Given the description of an element on the screen output the (x, y) to click on. 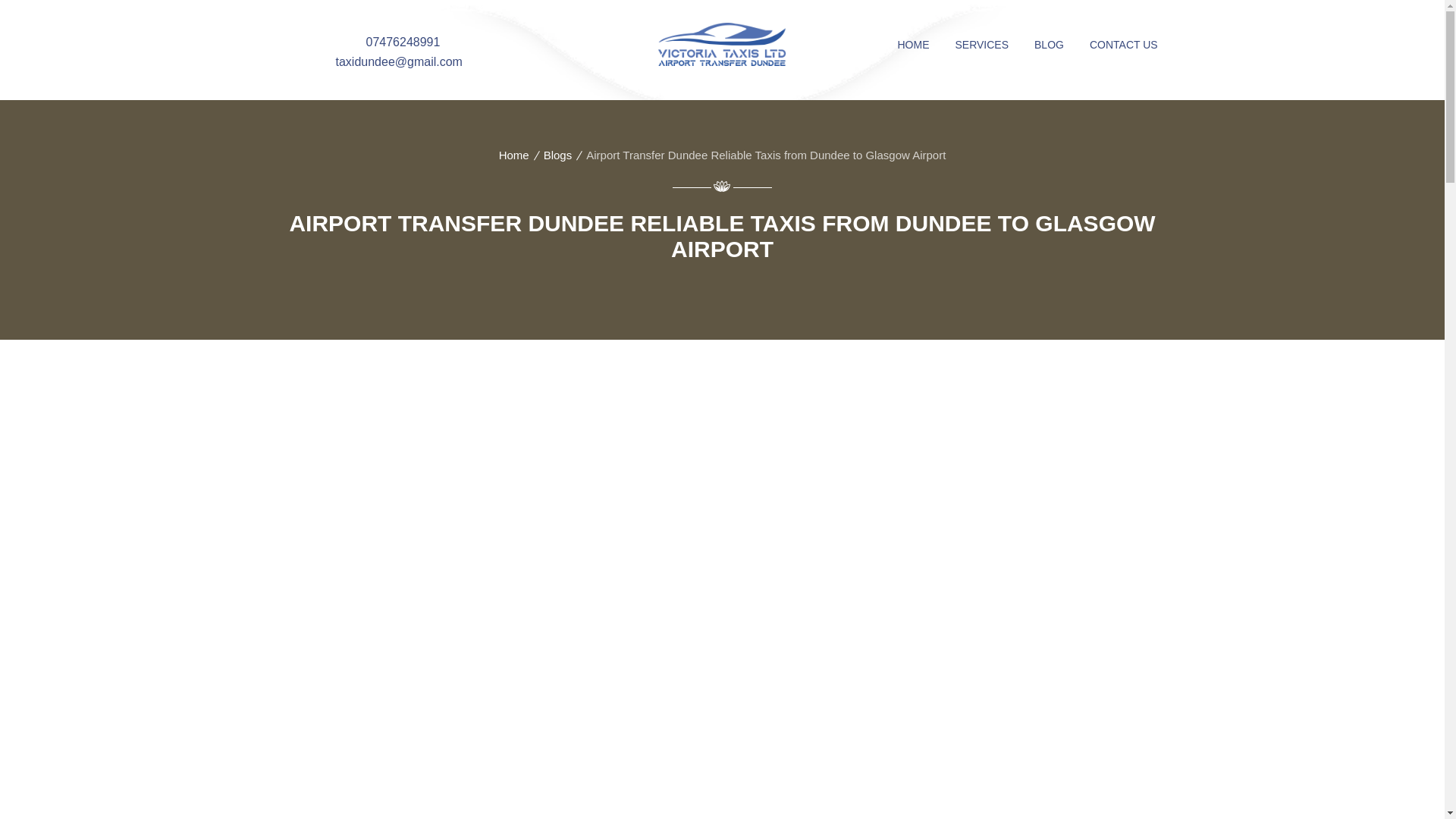
SERVICES (981, 44)
Blogs (557, 154)
07476248991 (402, 42)
BLOG (1049, 44)
CONTACT US (1123, 44)
HOME (912, 44)
Home (514, 154)
